Given the description of an element on the screen output the (x, y) to click on. 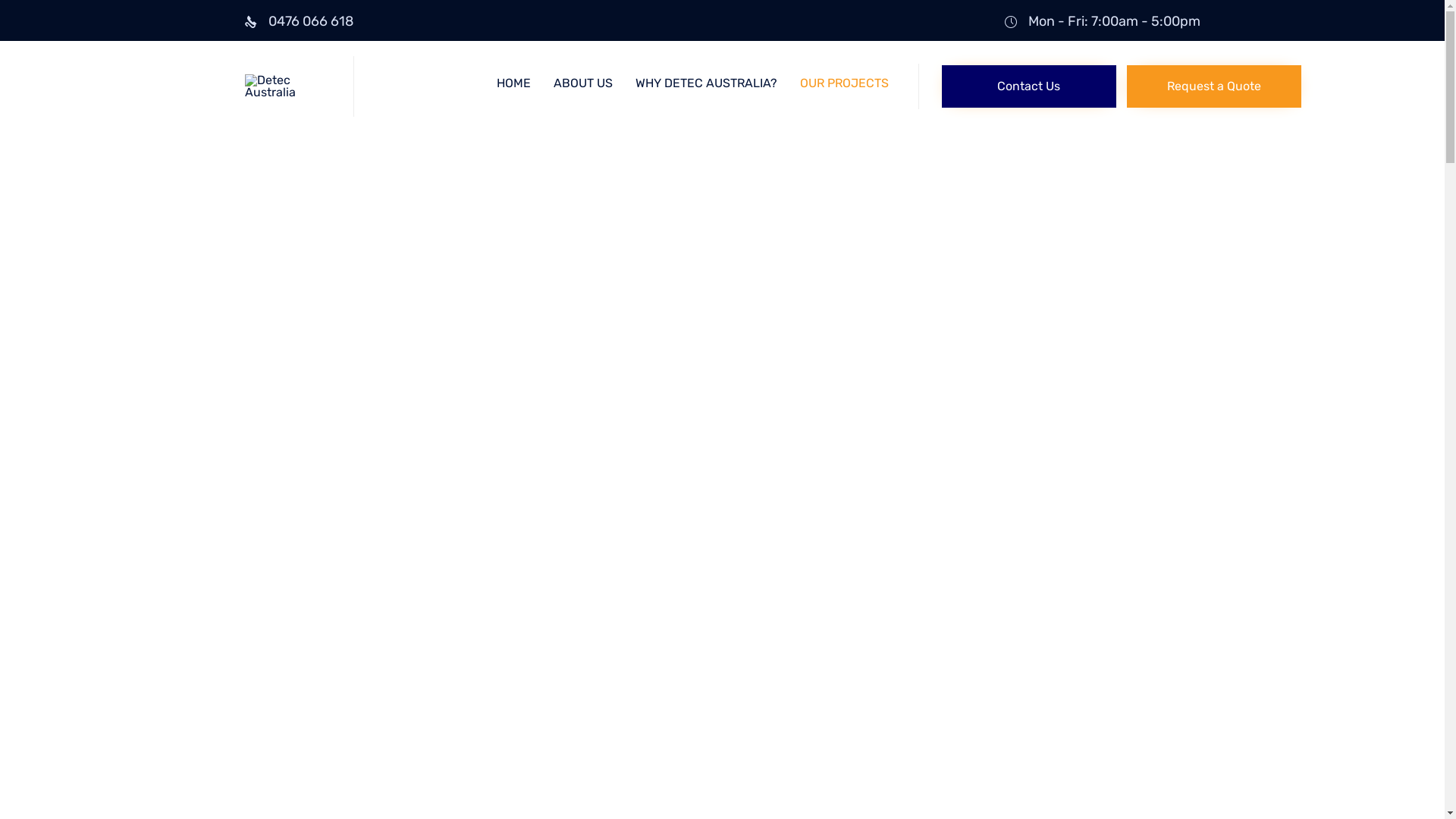
Detec Australia Element type: hover (286, 86)
WHY DETEC AUSTRALIA? Element type: text (706, 83)
Request a Quote Element type: text (1213, 86)
Contact Us Element type: text (1028, 86)
ABOUT US Element type: text (582, 83)
0476 066 618 Element type: text (310, 21)
HOME Element type: text (512, 83)
OUR PROJECTS Element type: text (843, 83)
Skip to content Element type: text (917, 73)
